Given the description of an element on the screen output the (x, y) to click on. 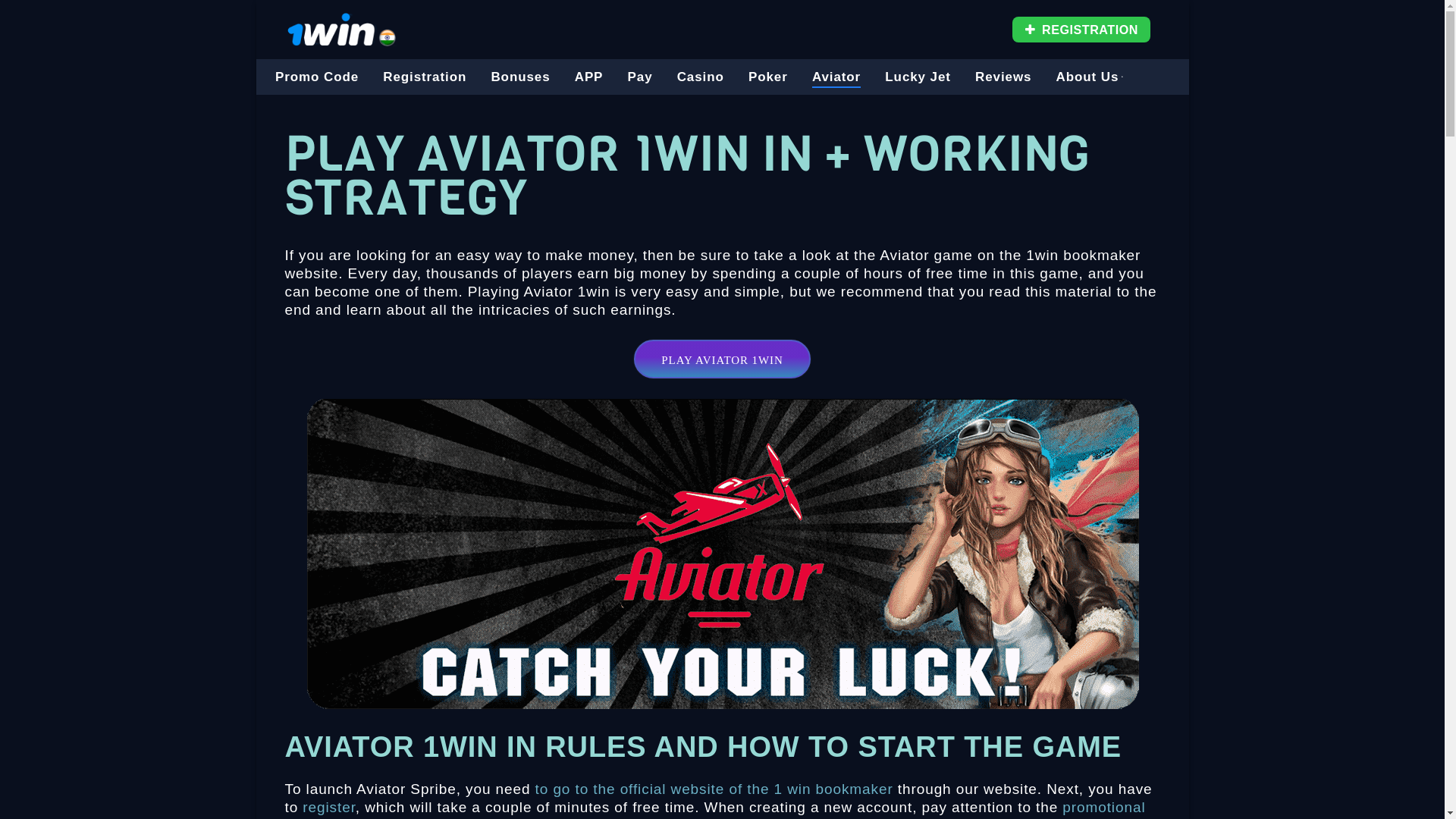
Casino Element type: text (700, 76)
Promo Code Element type: text (316, 76)
Reviews Element type: text (1003, 76)
Pay Element type: text (640, 76)
Registration Element type: text (424, 76)
About Us
  Element type: text (1089, 76)
PLAY AVIATOR 1WIN Element type: text (721, 358)
REGISTRATION Element type: text (1081, 29)
Aviator Element type: text (836, 76)
Skip to content Element type: text (256, 0)
Poker Element type: text (767, 76)
Bonuses Element type: text (519, 76)
register Element type: text (328, 807)
APP Element type: text (588, 76)
to go to the official website of the 1 win bookmaker Element type: text (714, 789)
Lucky Jet Element type: text (917, 76)
